Given the description of an element on the screen output the (x, y) to click on. 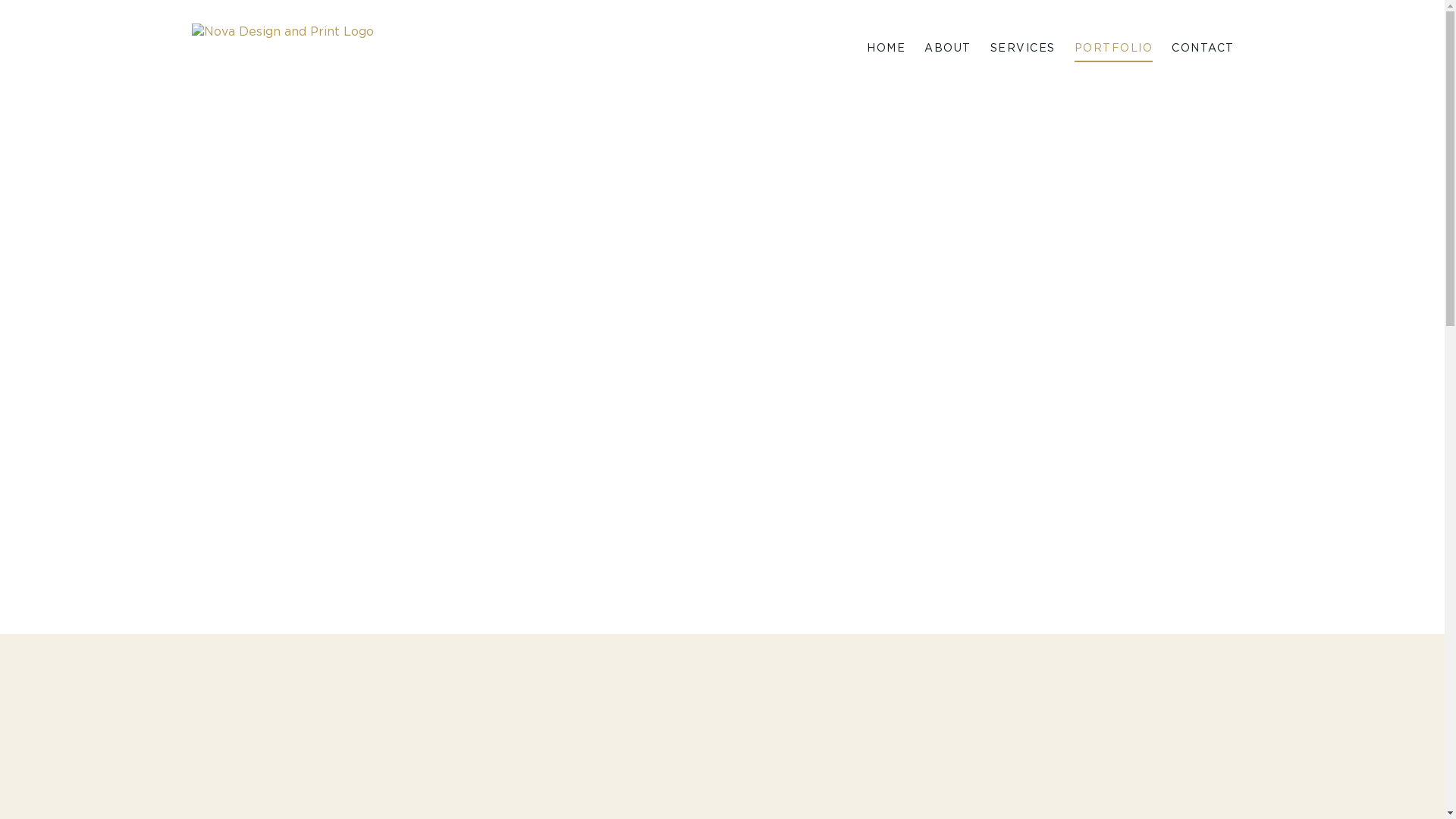
PORTFOLIO Element type: text (1112, 48)
HOME Element type: text (885, 48)
ABOUT Element type: text (947, 48)
SERVICES Element type: text (1022, 48)
CONTACT Element type: text (1202, 48)
